Given the description of an element on the screen output the (x, y) to click on. 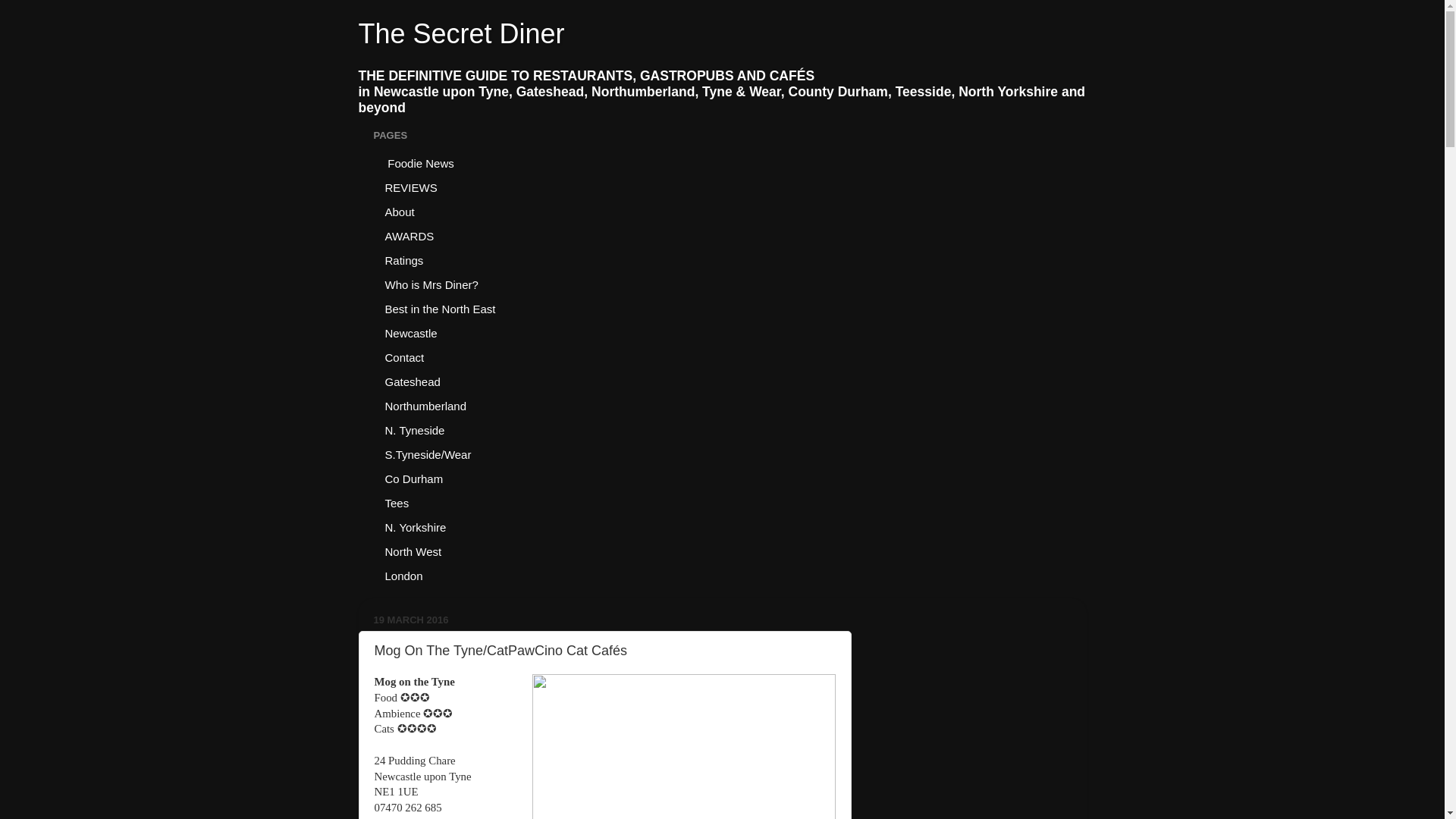
Co Durham (413, 478)
Newcastle (410, 332)
N. Yorkshire (415, 526)
Northumberland (425, 405)
About (399, 211)
Contact (403, 356)
Ratings (403, 259)
The Secret Diner (461, 33)
Foodie News (418, 162)
Gateshead (411, 381)
